Given the description of an element on the screen output the (x, y) to click on. 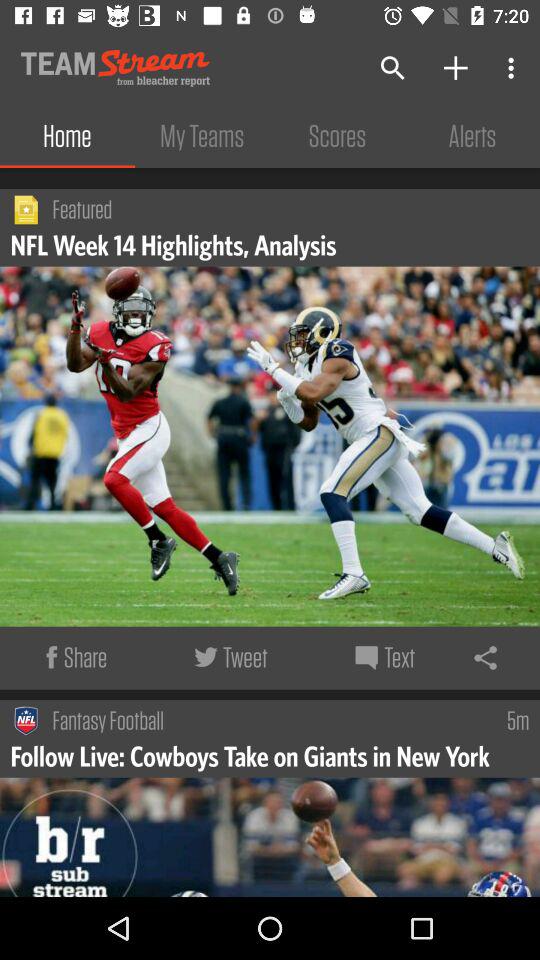
launch follow live cowboys item (252, 755)
